Given the description of an element on the screen output the (x, y) to click on. 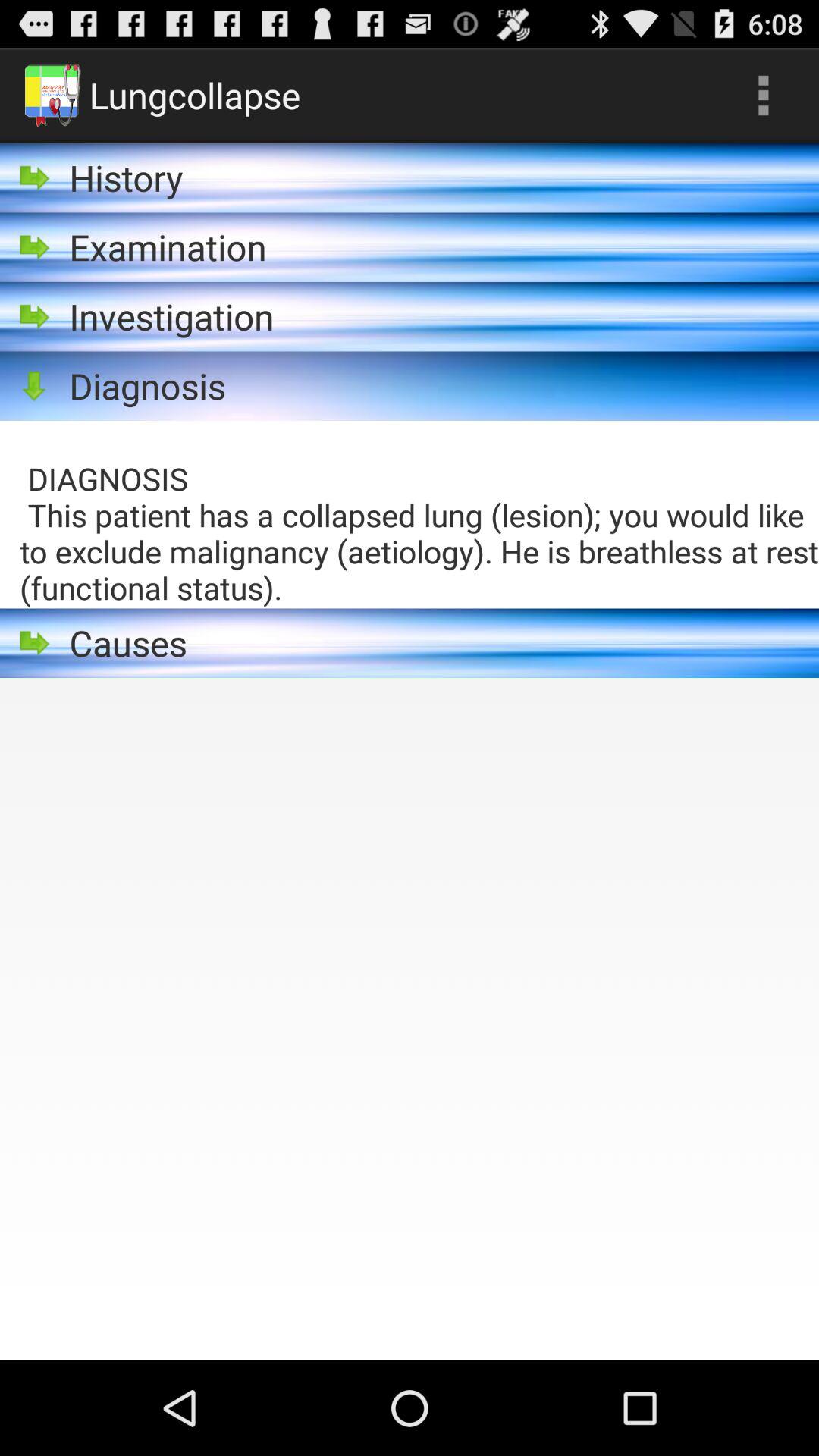
tap the icon next to the lungcollapse (763, 95)
